Given the description of an element on the screen output the (x, y) to click on. 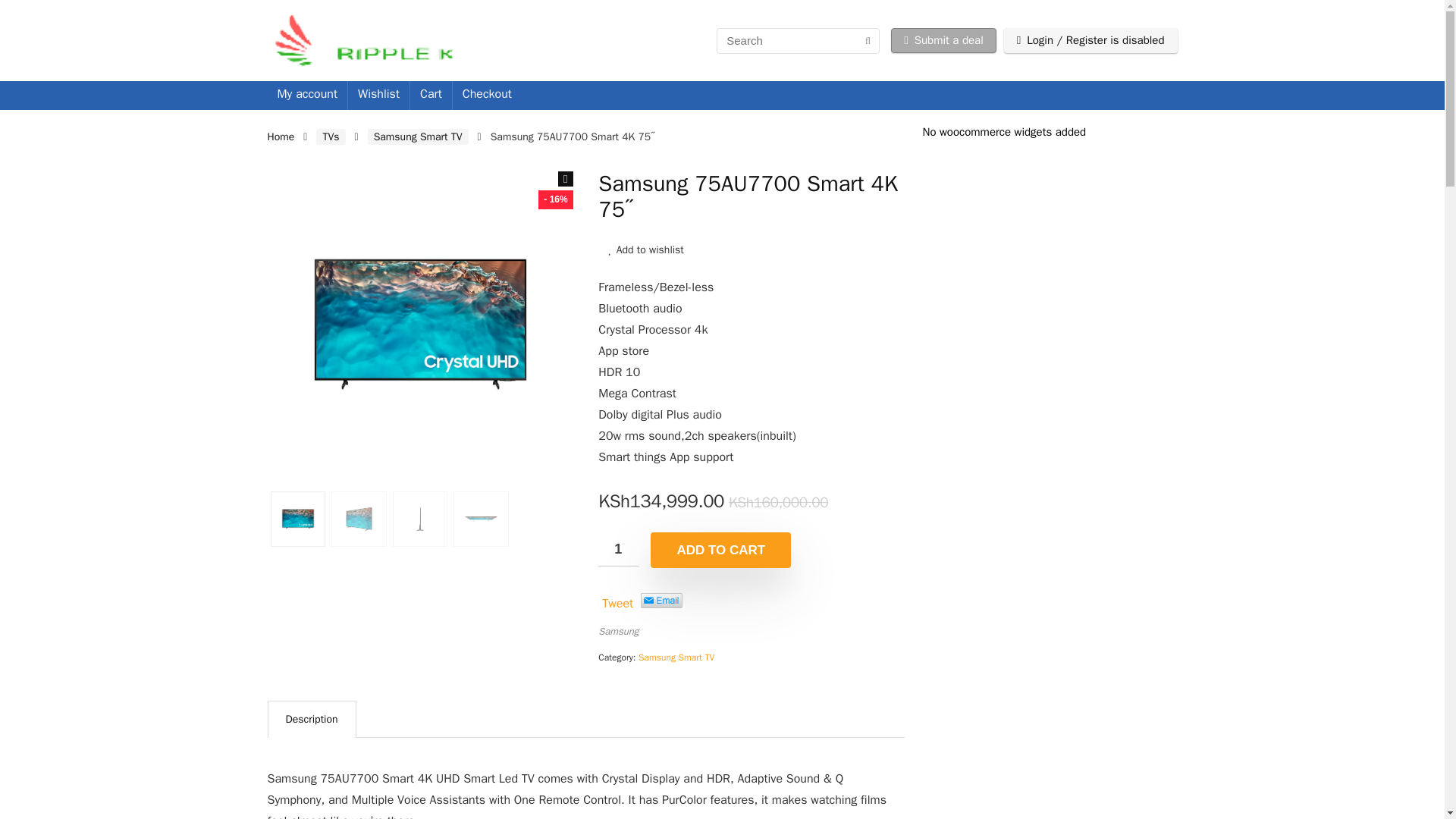
Checkout (486, 95)
Tweet (617, 603)
Home (280, 136)
1 (618, 549)
My account (306, 95)
Wishlist (378, 95)
Samsung (618, 631)
Submit a deal (943, 40)
Samsung Smart TV (676, 657)
TVs (330, 136)
